Given the description of an element on the screen output the (x, y) to click on. 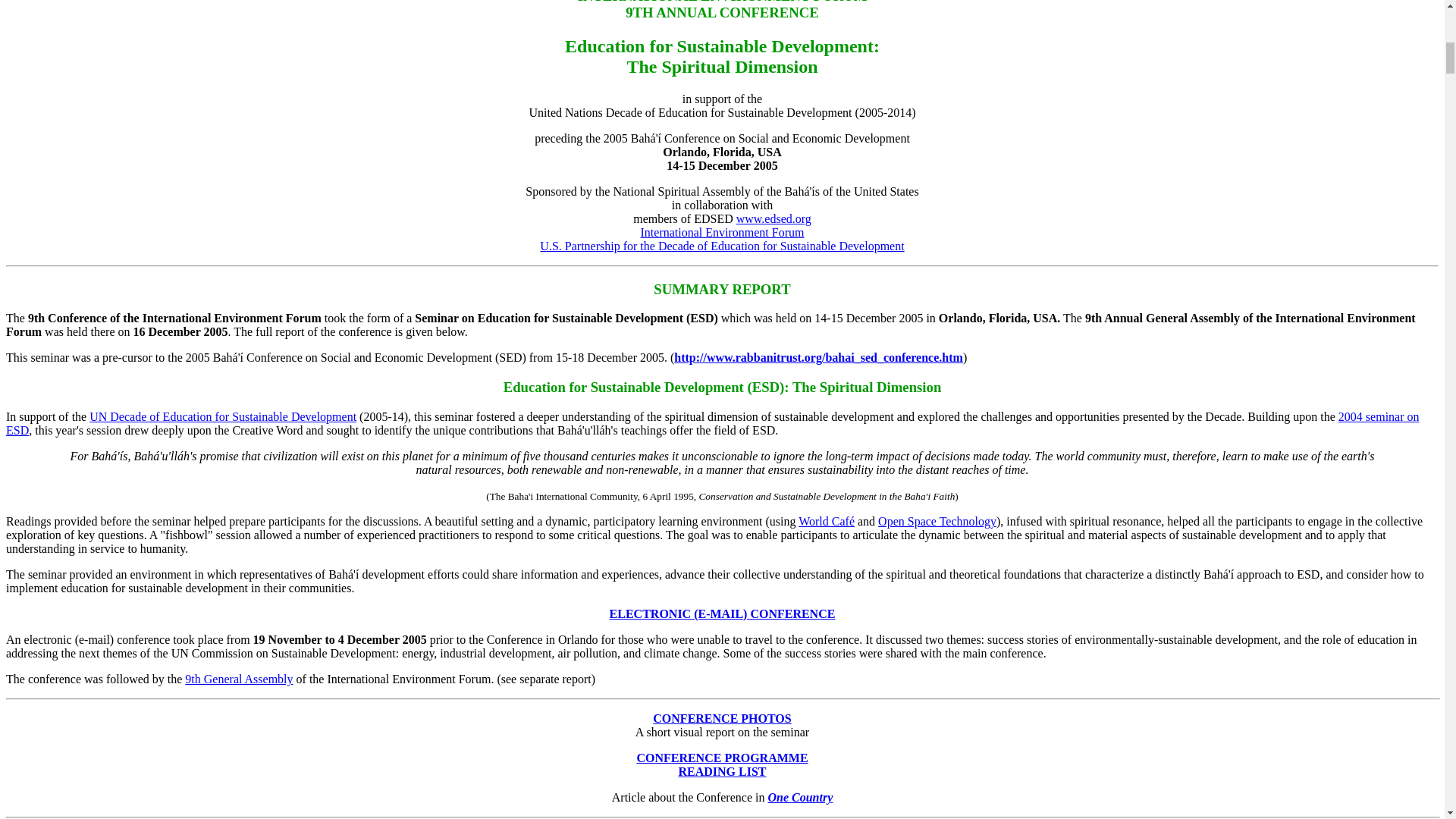
International Environment Forum (722, 232)
www.edsed.org (773, 218)
